Given the description of an element on the screen output the (x, y) to click on. 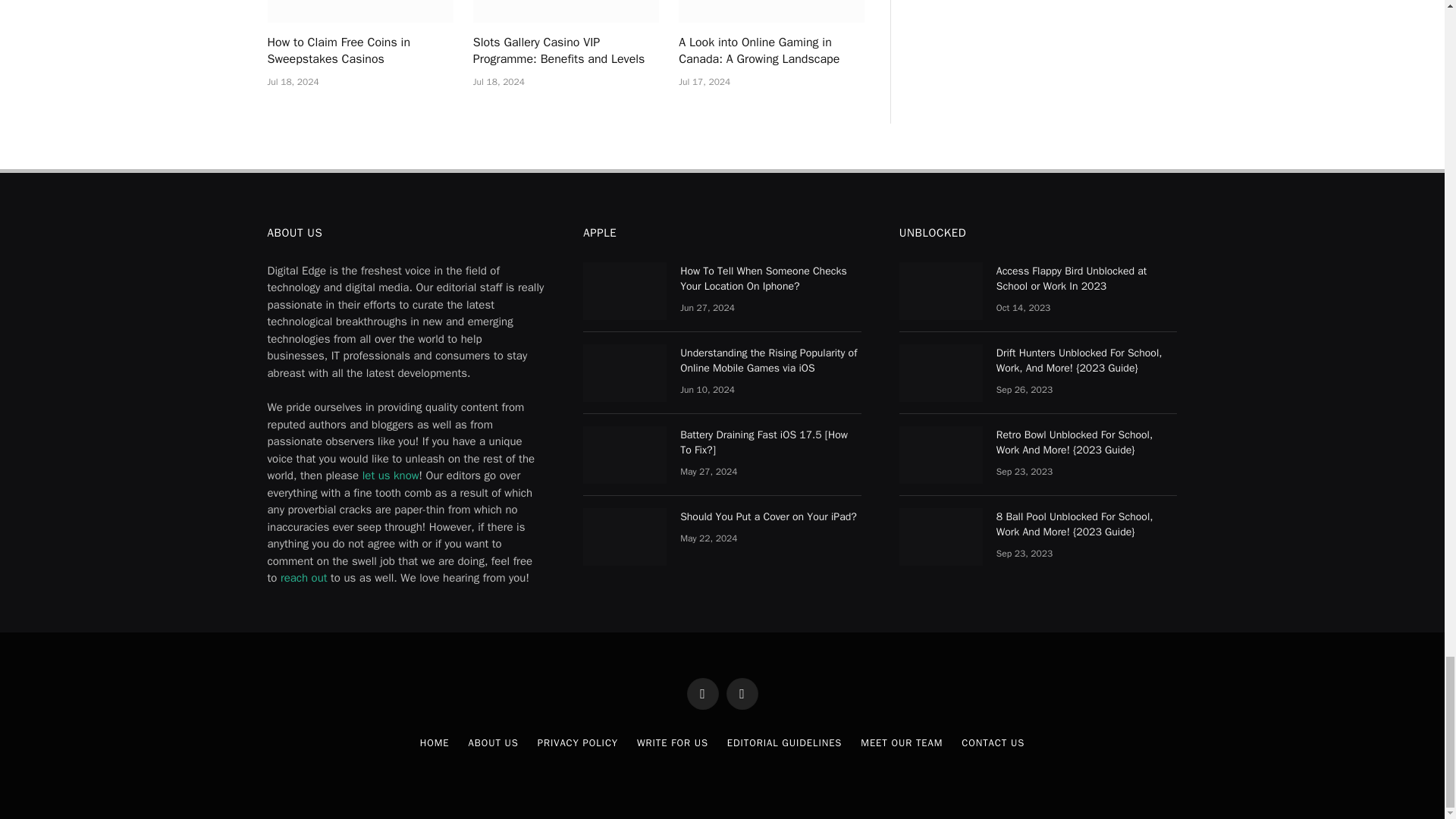
Slots Gallery Casino VIP Programme: Benefits and Levels (566, 11)
How to Claim Free Coins in Sweepstakes Casinos (359, 11)
